Given the description of an element on the screen output the (x, y) to click on. 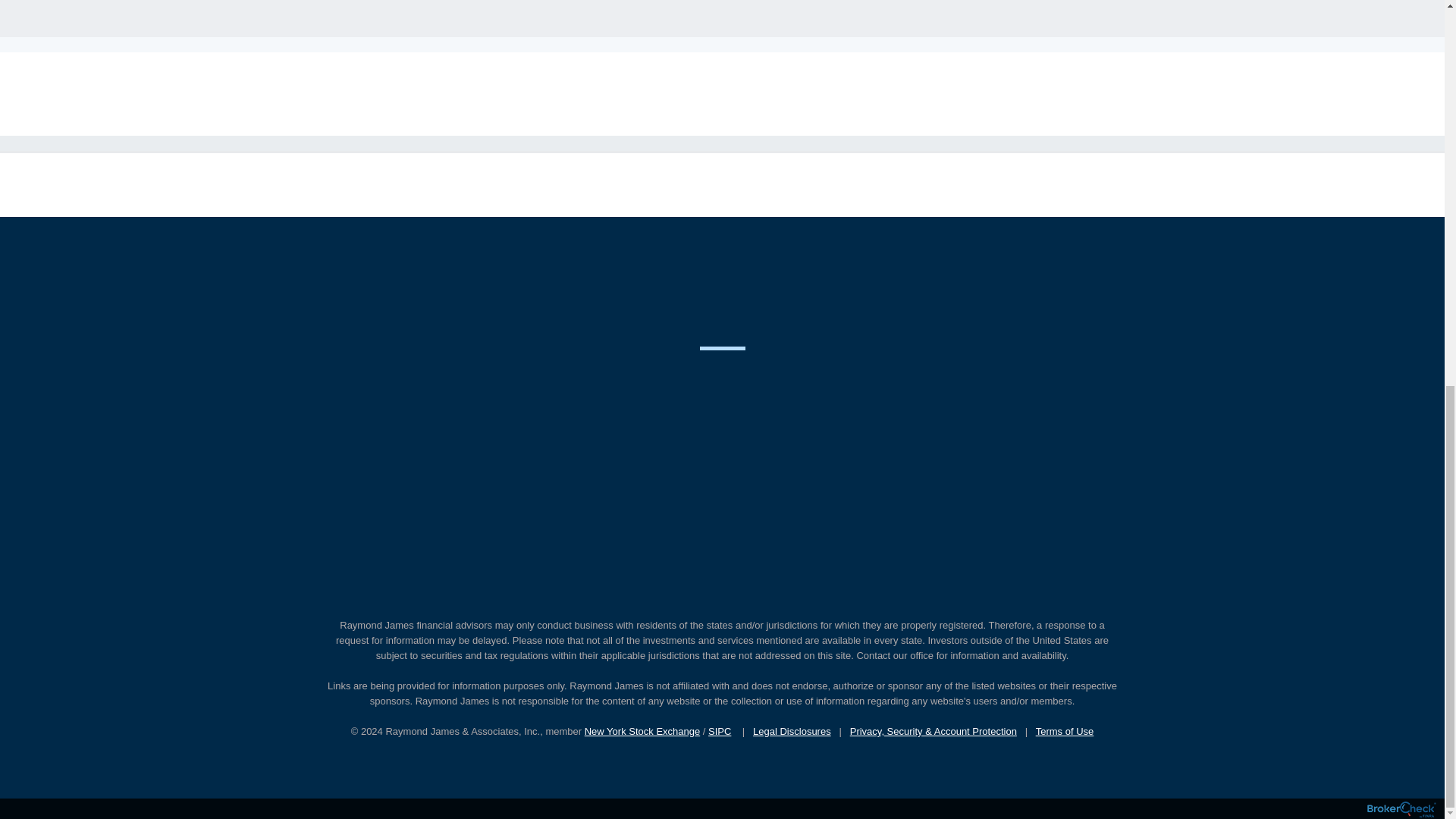
New York Stock Exchange (642, 731)
SIPC (718, 731)
Legal Disclosures (791, 731)
Terms of Use (1064, 731)
Privacy, Security and Account Protection (933, 731)
